Given the description of an element on the screen output the (x, y) to click on. 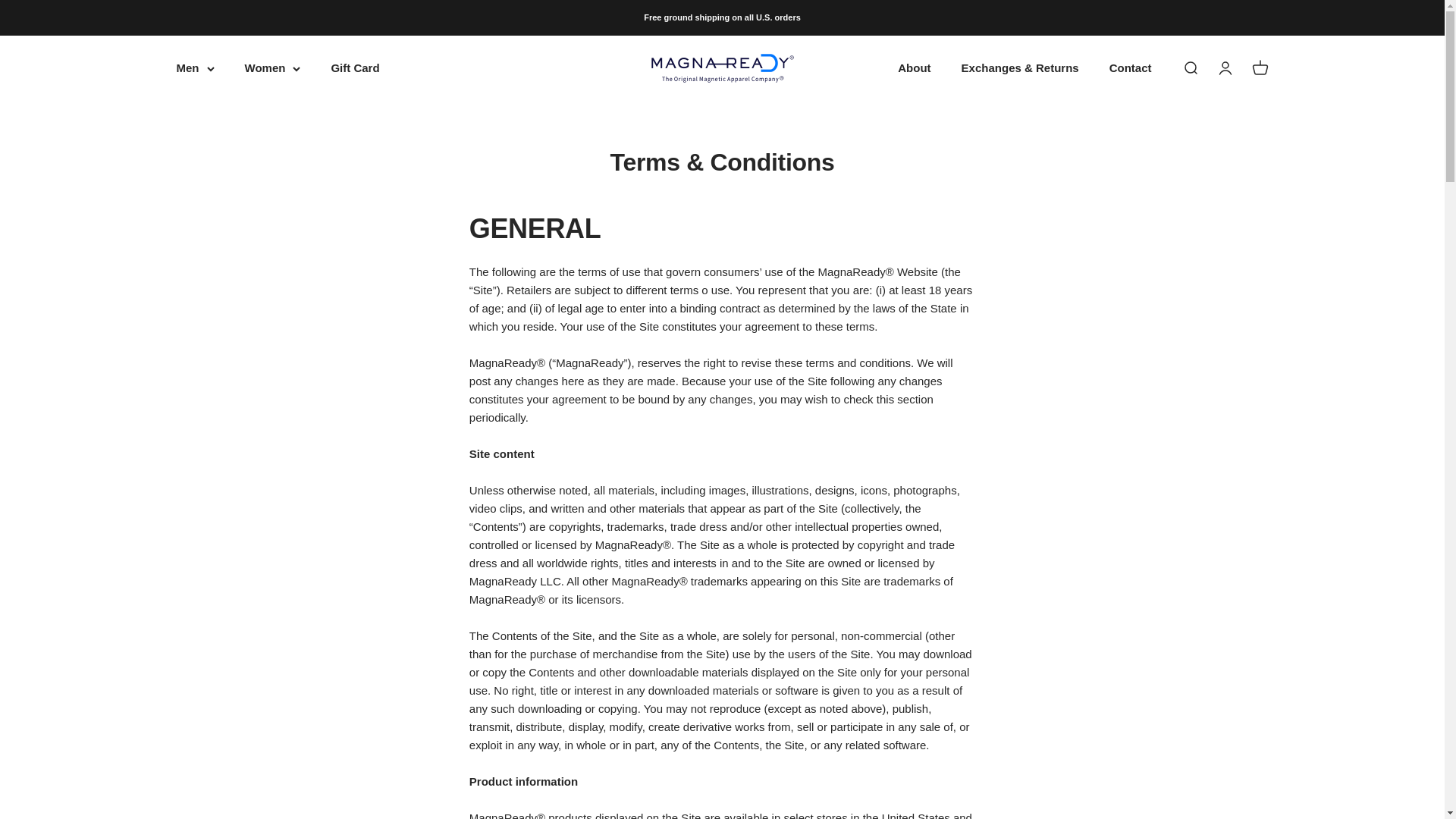
About (914, 67)
Open search (1189, 67)
MagnaReady (722, 68)
Contact (1130, 67)
Open account page (1224, 67)
Gift Card (354, 67)
